Given the description of an element on the screen output the (x, y) to click on. 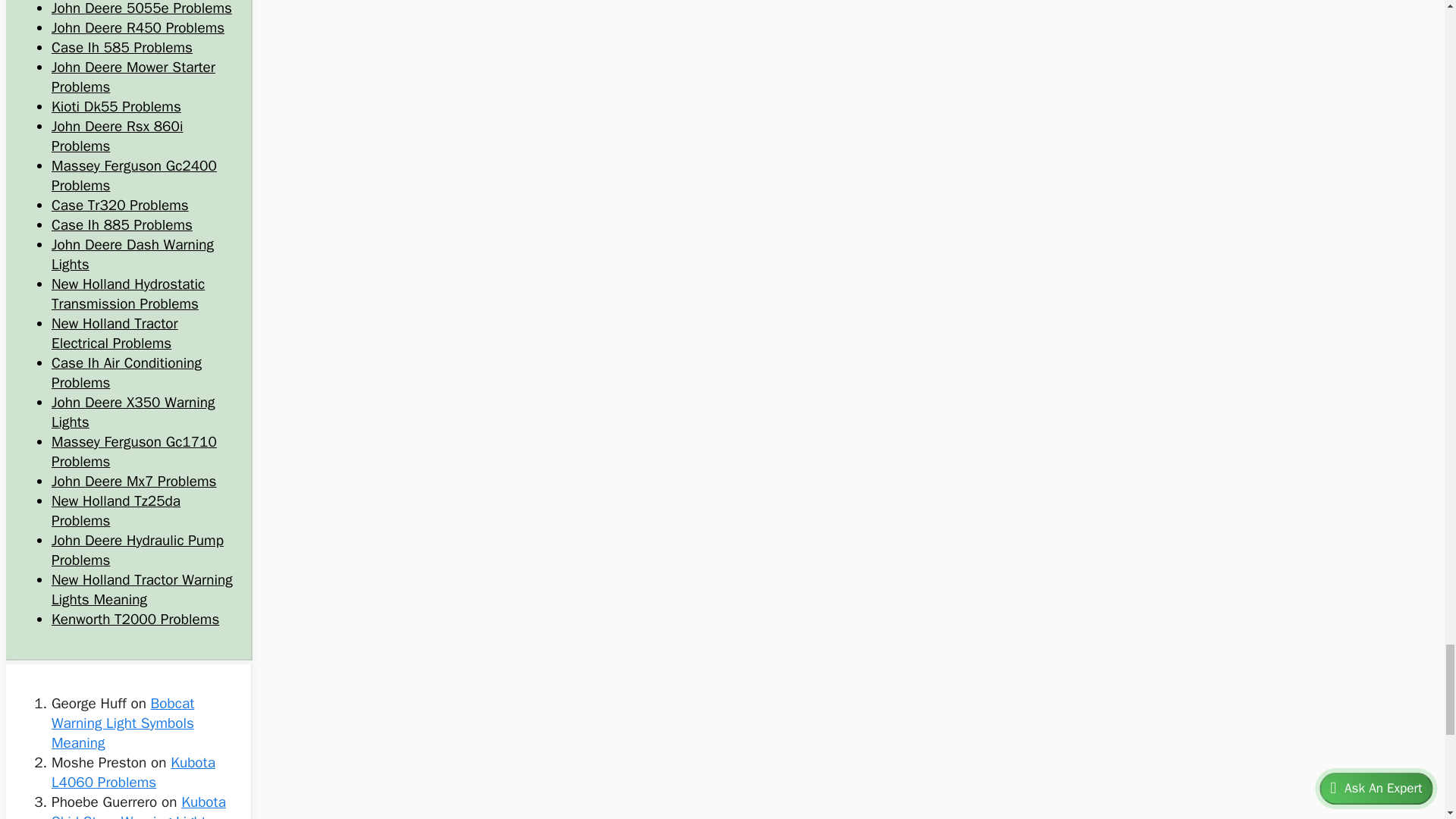
John Deere Mower Starter Problems (132, 77)
John Deere 5055e Problems (140, 8)
Kioti Dk55 Problems (115, 106)
Case Ih 585 Problems (121, 47)
John Deere R450 Problems (137, 27)
